Given the description of an element on the screen output the (x, y) to click on. 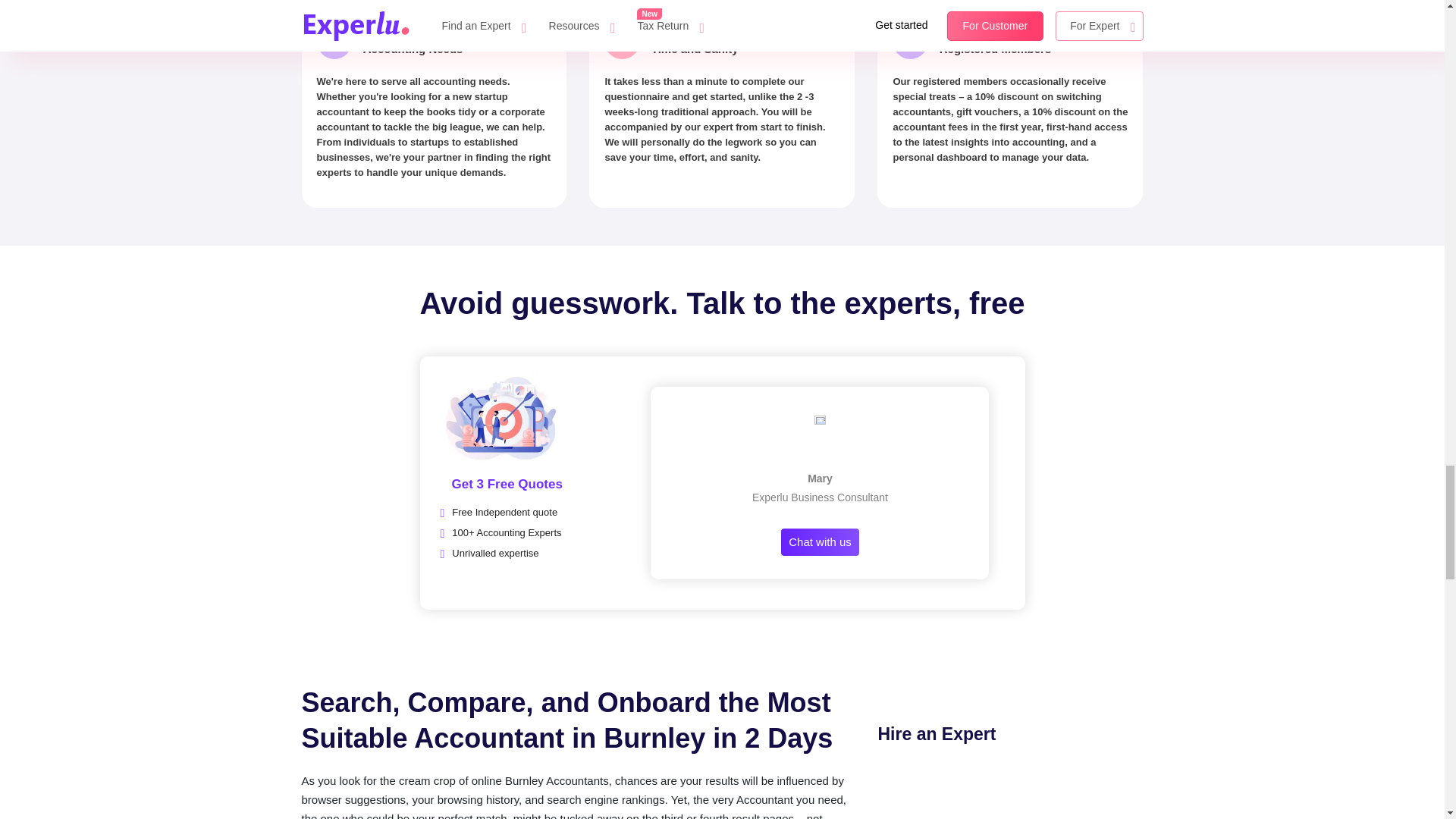
Chat with us (820, 542)
Experlu IE- Inner pages without images (1021, 794)
